Given the description of an element on the screen output the (x, y) to click on. 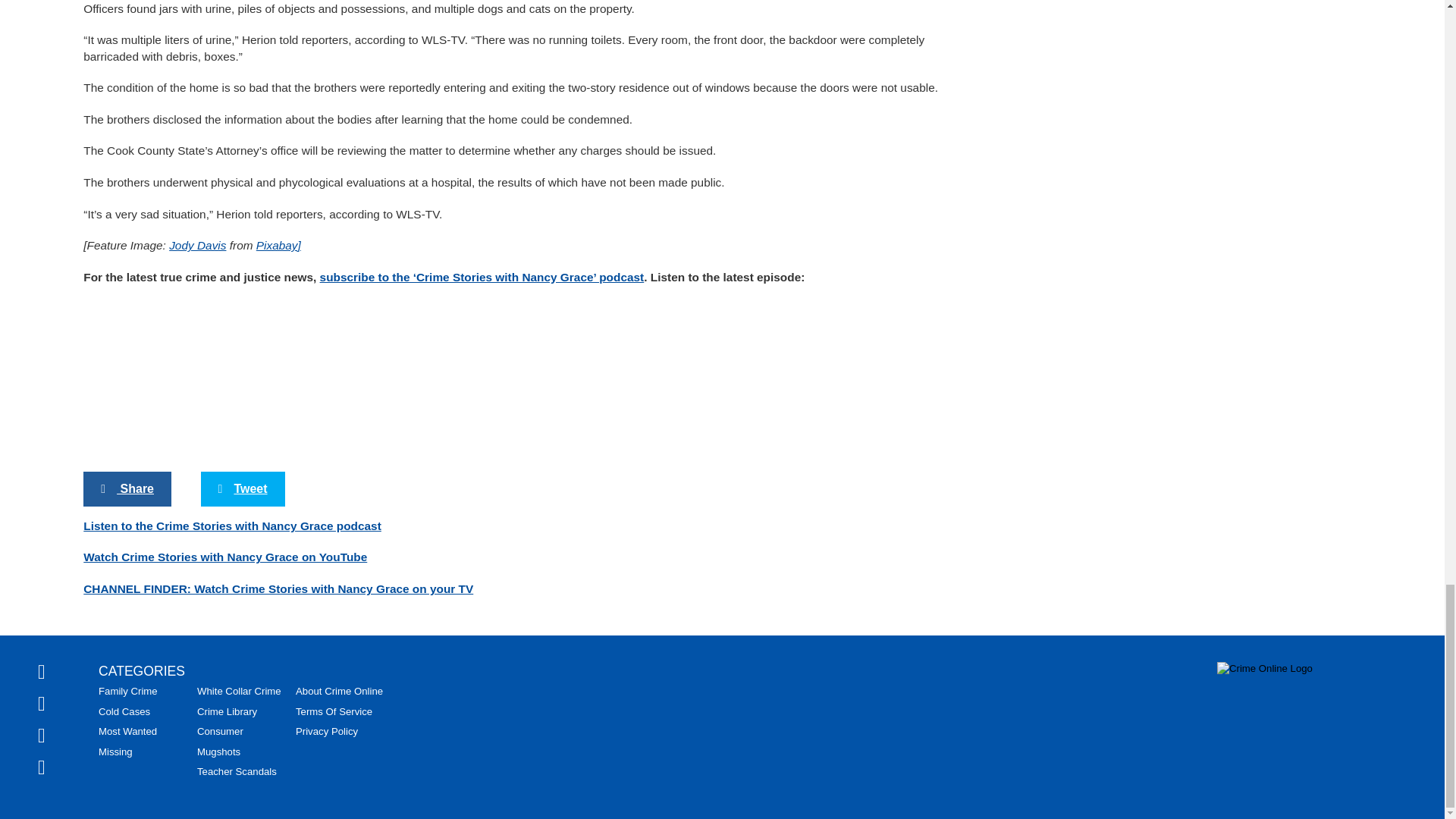
How Long Should I Keep My Car? (515, 734)
Watch Crime Stories with Nancy Grace on YouTube (224, 207)
The Close Relationship Between Stress and Sleep (791, 740)
10 Melania Facts That Will Stun You (242, 399)
Tweet (242, 140)
Listen to the Crime Stories with Nancy Grace podcast (231, 176)
Share (126, 140)
10 Biggest Sea Dinosaurs That Ever Existed on Earth (515, 407)
The 50 Most Romantic Hotels in the World 2022 (791, 407)
20 Extremely Special Beaches Around the World (242, 583)
